Given the description of an element on the screen output the (x, y) to click on. 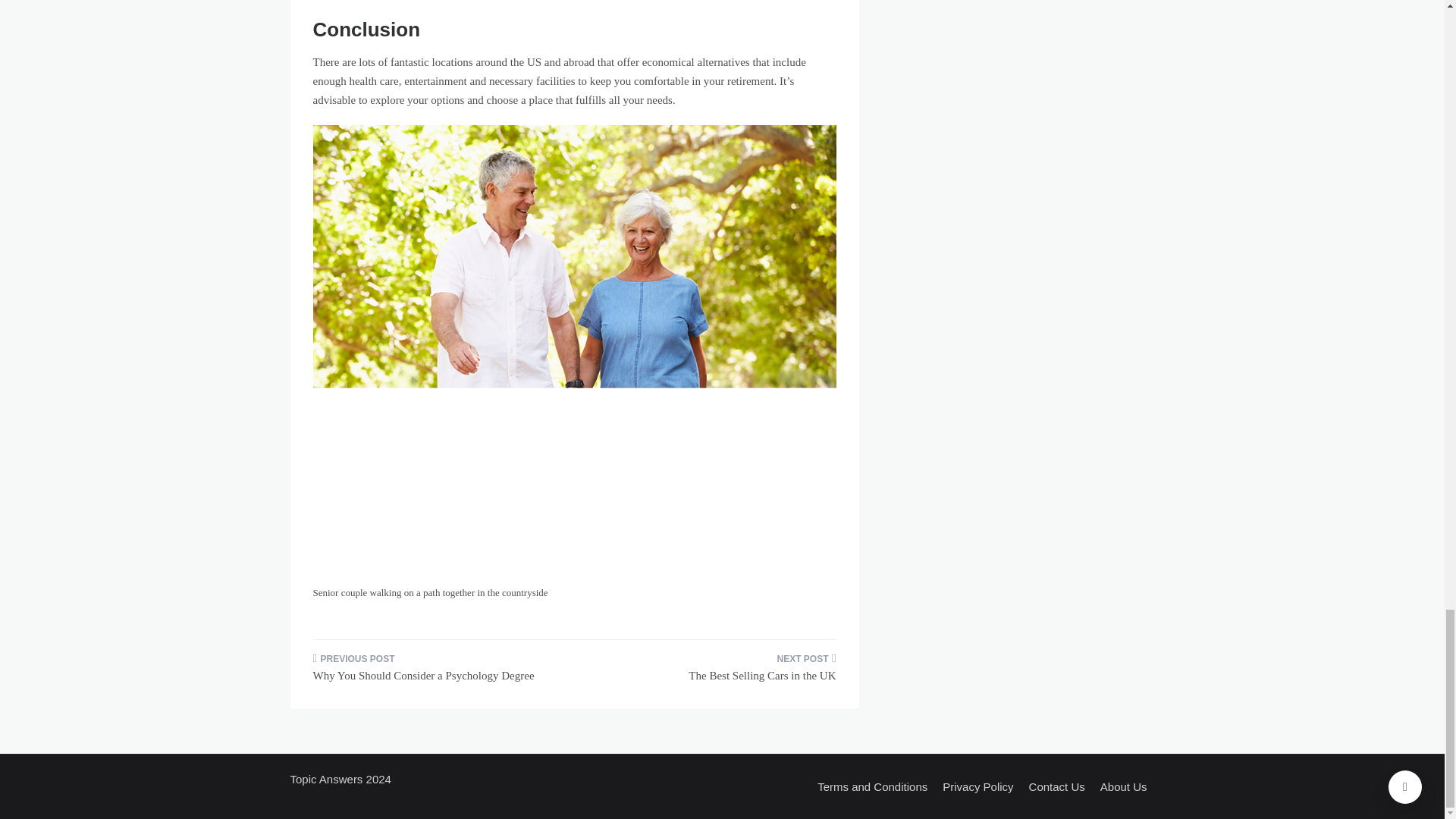
Privacy Policy (977, 786)
Why You Should Consider a Psychology Degree (437, 672)
Terms and Conditions (871, 786)
Contact Us (1057, 786)
About Us (1123, 786)
The Best Selling Cars in the UK (710, 672)
